Given the description of an element on the screen output the (x, y) to click on. 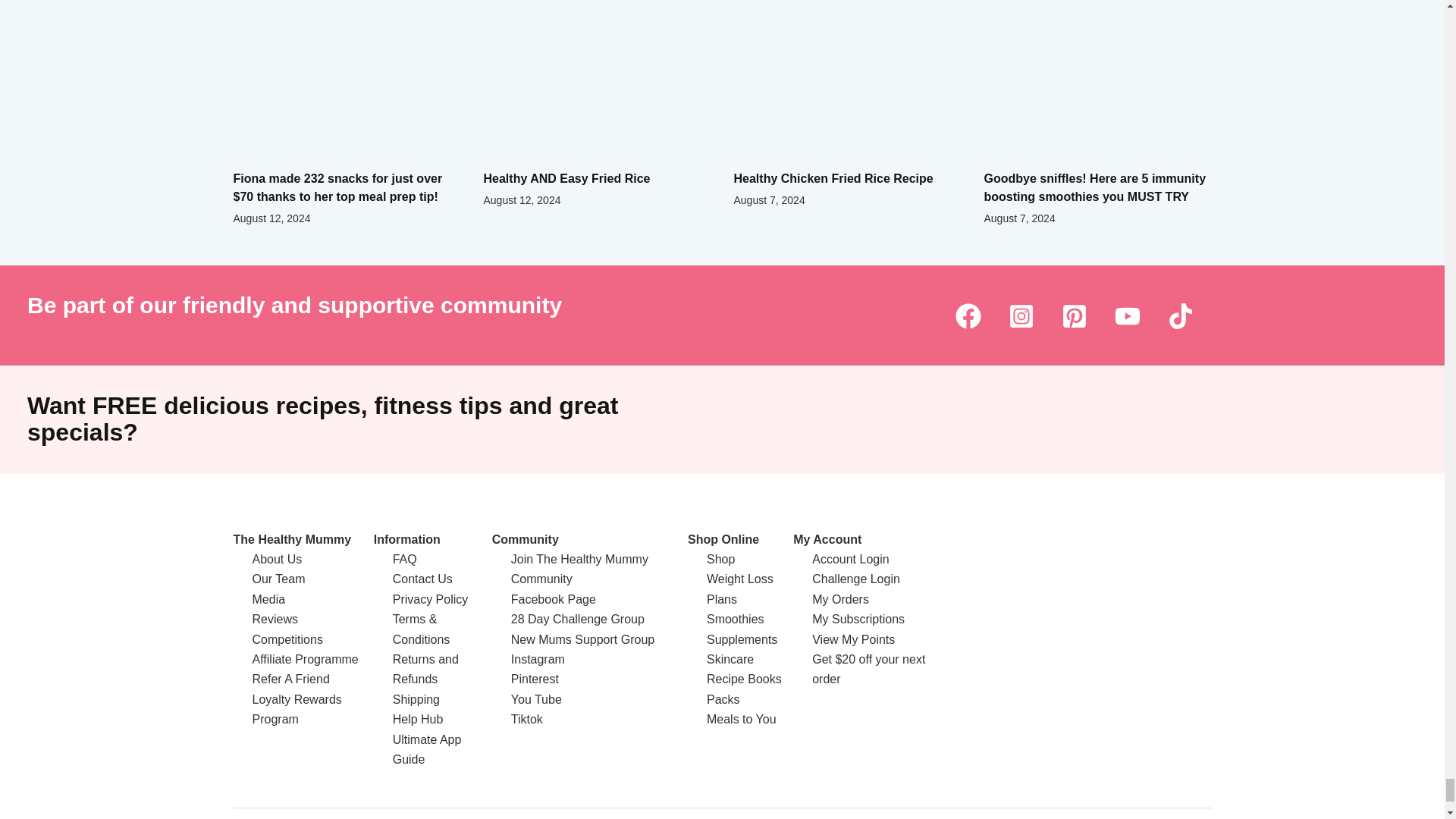
The Healthy Mummy (292, 539)
Instagram (1020, 316)
Join Our Affiliate Programme (304, 658)
You Tube (1127, 316)
Facebook (968, 316)
Pinterest (1074, 316)
TikTok (1180, 316)
